Given the description of an element on the screen output the (x, y) to click on. 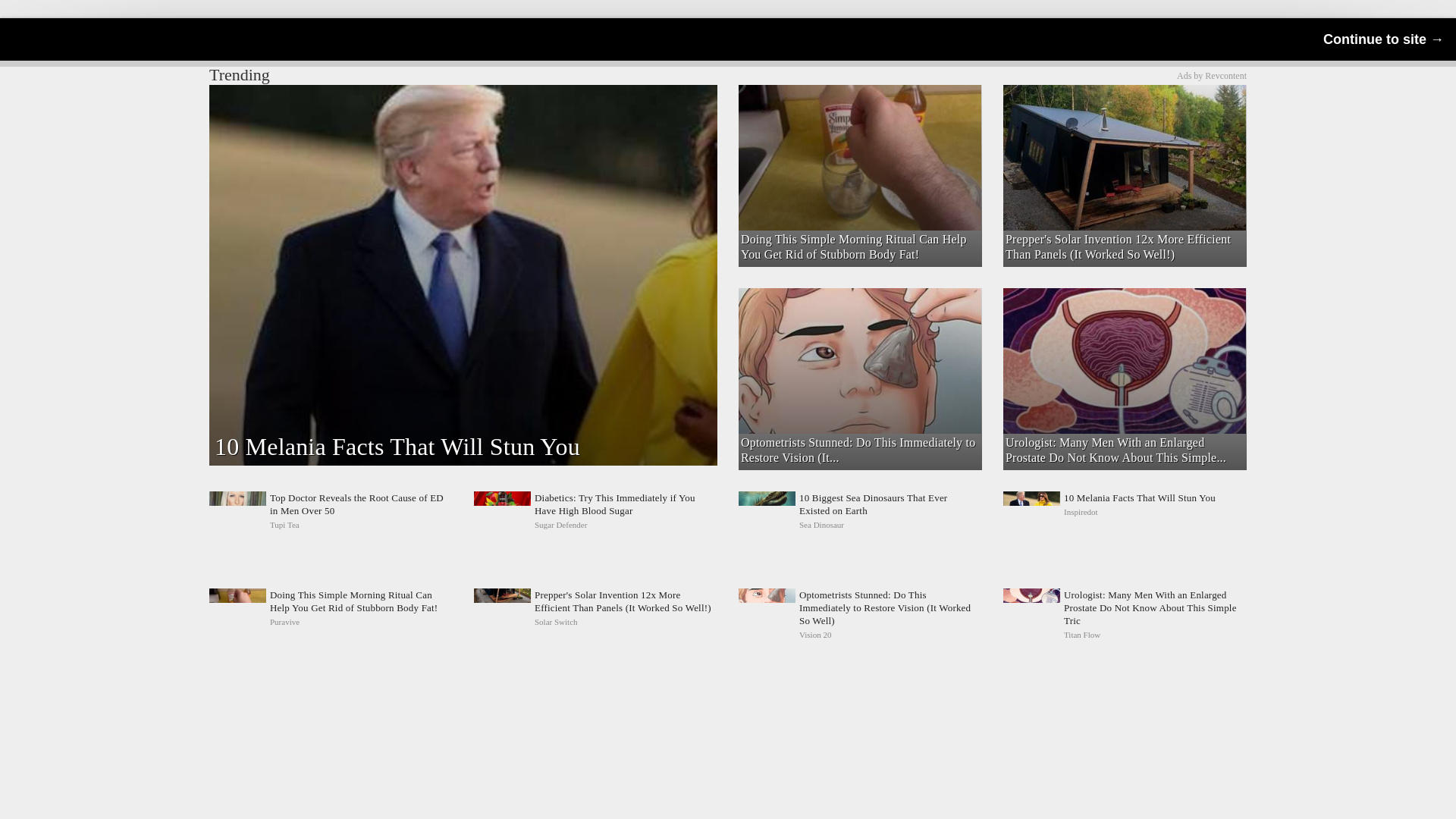
10 Melania Facts That Will Stun You (1124, 510)
10 Melania Facts That Will Stun You (859, 111)
10 Melania Facts That Will Stun You (1124, 510)
Top Doctor Reveals the Root Cause of ED in Men Over 50 (1211, 75)
